Given the description of an element on the screen output the (x, y) to click on. 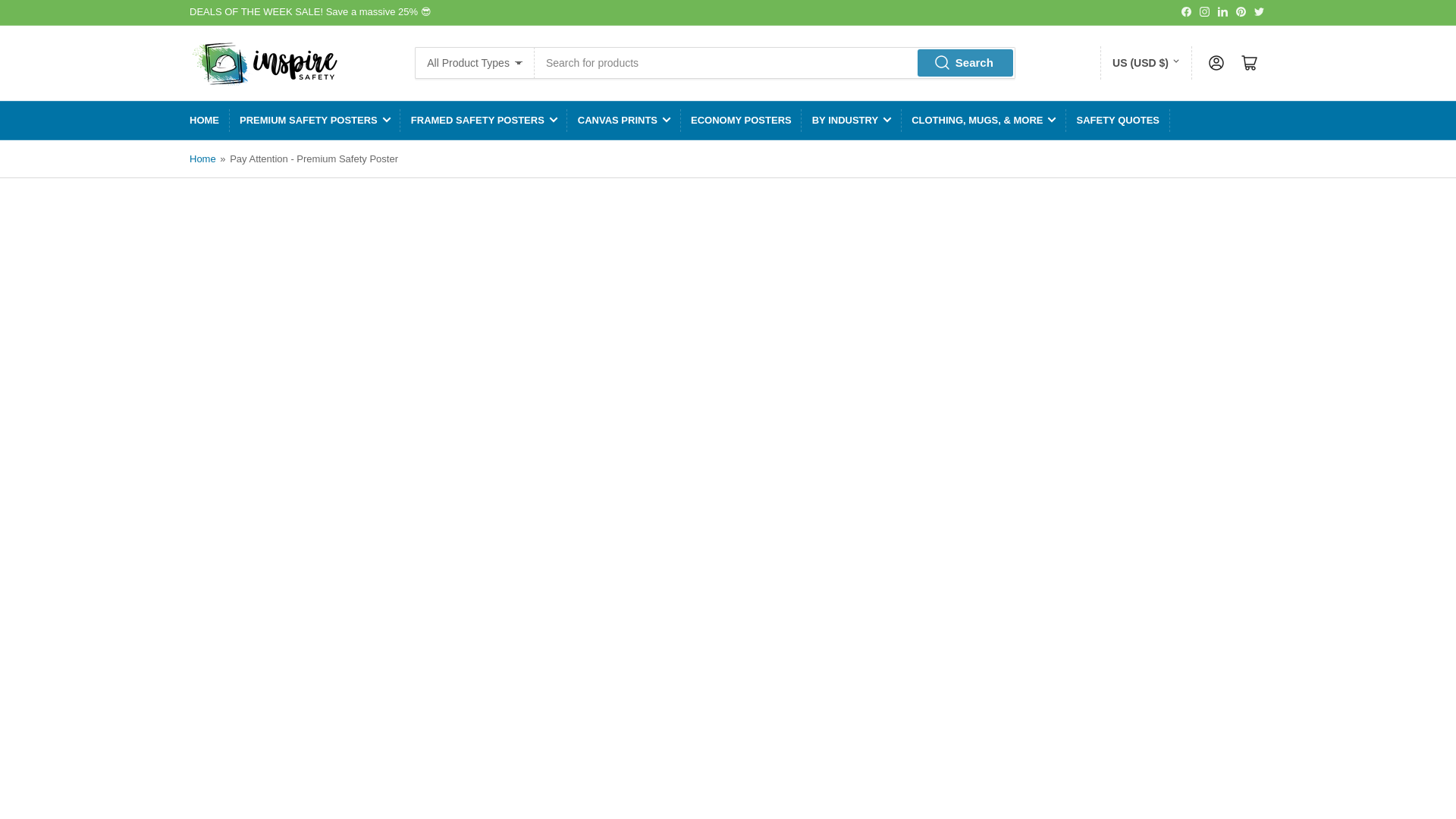
Facebook (1186, 11)
Instagram (1203, 11)
LinkedIn (1222, 11)
Twitter (1259, 11)
Search (964, 62)
Pinterest (1240, 11)
